Given the description of an element on the screen output the (x, y) to click on. 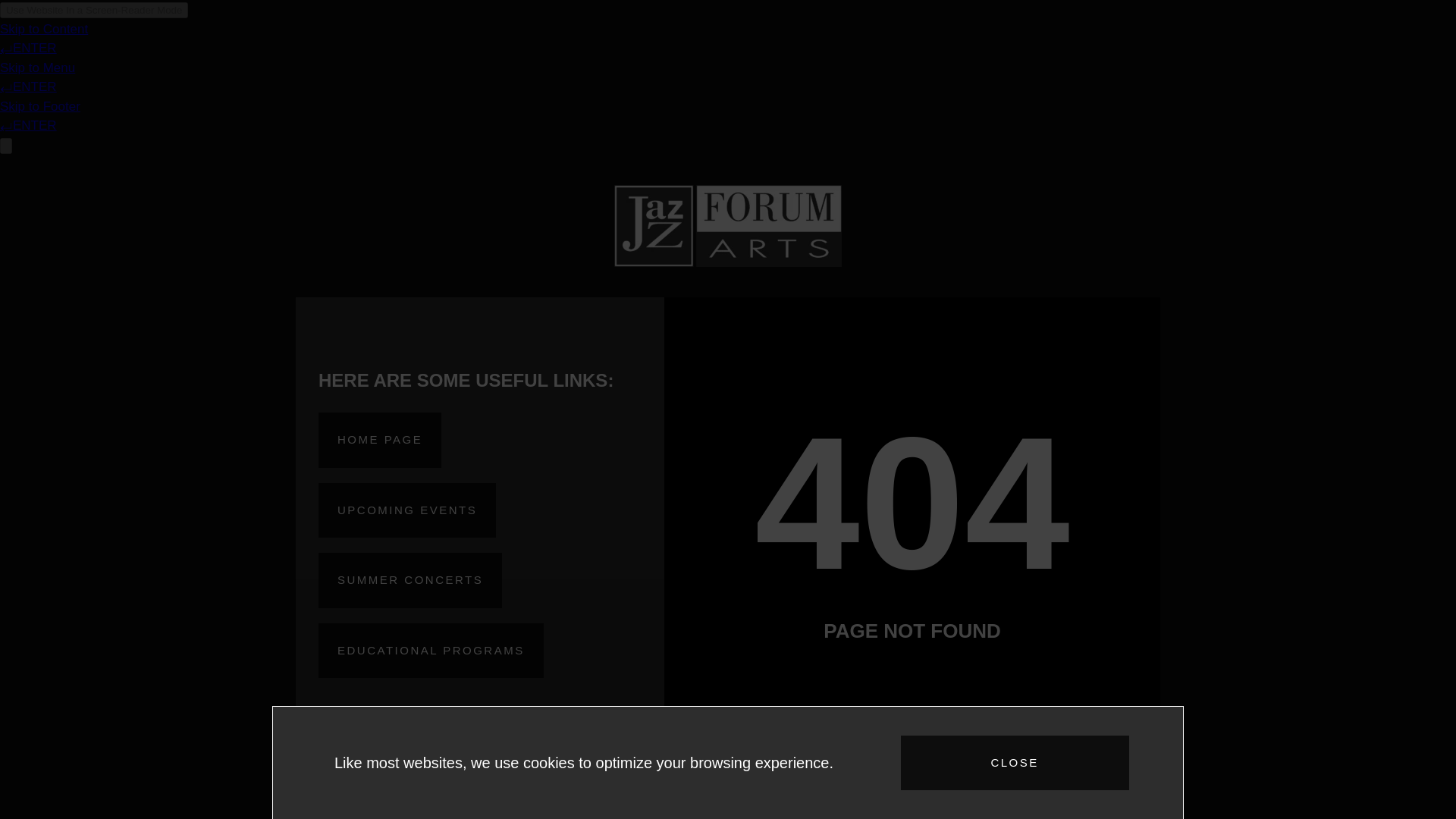
UPCOMING EVENTS (407, 509)
EDUCATIONAL PROGRAMS (430, 650)
HOME PAGE (379, 439)
SUMMER CONCERTS (410, 580)
